Given the description of an element on the screen output the (x, y) to click on. 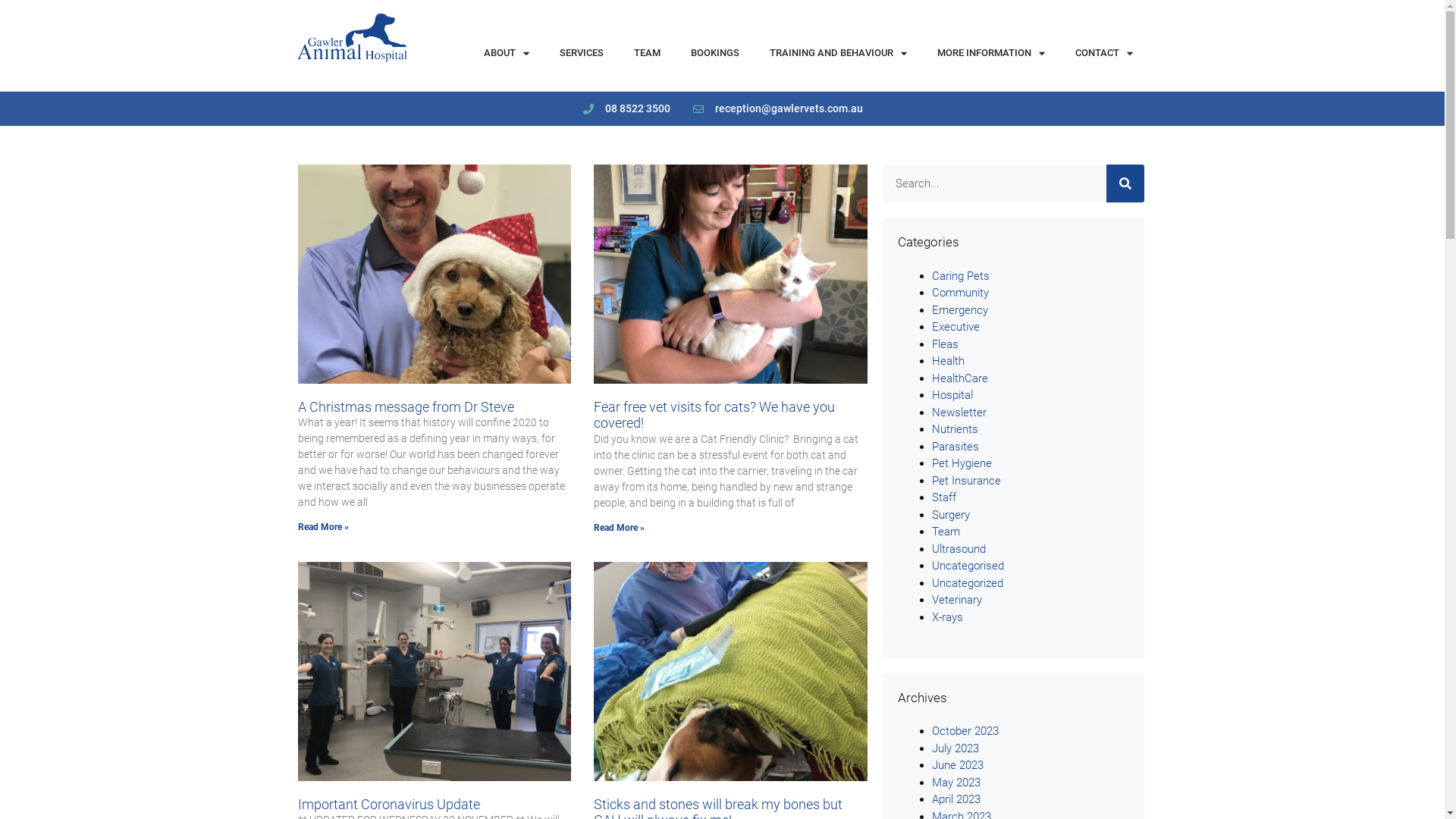
May 2023 Element type: text (955, 781)
Health Element type: text (947, 360)
Pet Insurance Element type: text (966, 479)
Surgery Element type: text (950, 514)
A Christmas message from Dr Steve Element type: text (405, 406)
CONTACT Element type: text (1104, 52)
October 2023 Element type: text (964, 730)
July 2023 Element type: text (955, 748)
X-rays Element type: text (947, 616)
reception@gawlervets.com.au Element type: text (776, 108)
ABOUT Element type: text (506, 52)
08 8522 3500 Element type: text (626, 108)
Nutrients Element type: text (954, 429)
Team Element type: text (945, 531)
Fear free vet visits for cats? We have you covered! Element type: text (713, 414)
MORE INFORMATION Element type: text (991, 52)
Parasites Element type: text (955, 446)
TEAM Element type: text (646, 52)
Newsletter Element type: text (958, 411)
June 2023 Element type: text (957, 764)
SERVICES Element type: text (581, 52)
Pet Hygiene Element type: text (961, 463)
HealthCare Element type: text (959, 378)
Emergency Element type: text (959, 309)
April 2023 Element type: text (955, 799)
BOOKINGS Element type: text (714, 52)
TRAINING AND BEHAVIOUR Element type: text (838, 52)
Important Coronavirus Update Element type: text (388, 804)
Caring Pets Element type: text (960, 275)
Veterinary Element type: text (956, 599)
Hospital Element type: text (951, 394)
Fleas Element type: text (944, 343)
Uncategorised Element type: text (967, 565)
Uncategorized Element type: text (967, 582)
Community Element type: text (959, 292)
Ultrasound Element type: text (958, 548)
Staff Element type: text (943, 497)
Executive Element type: text (955, 326)
